Given the description of an element on the screen output the (x, y) to click on. 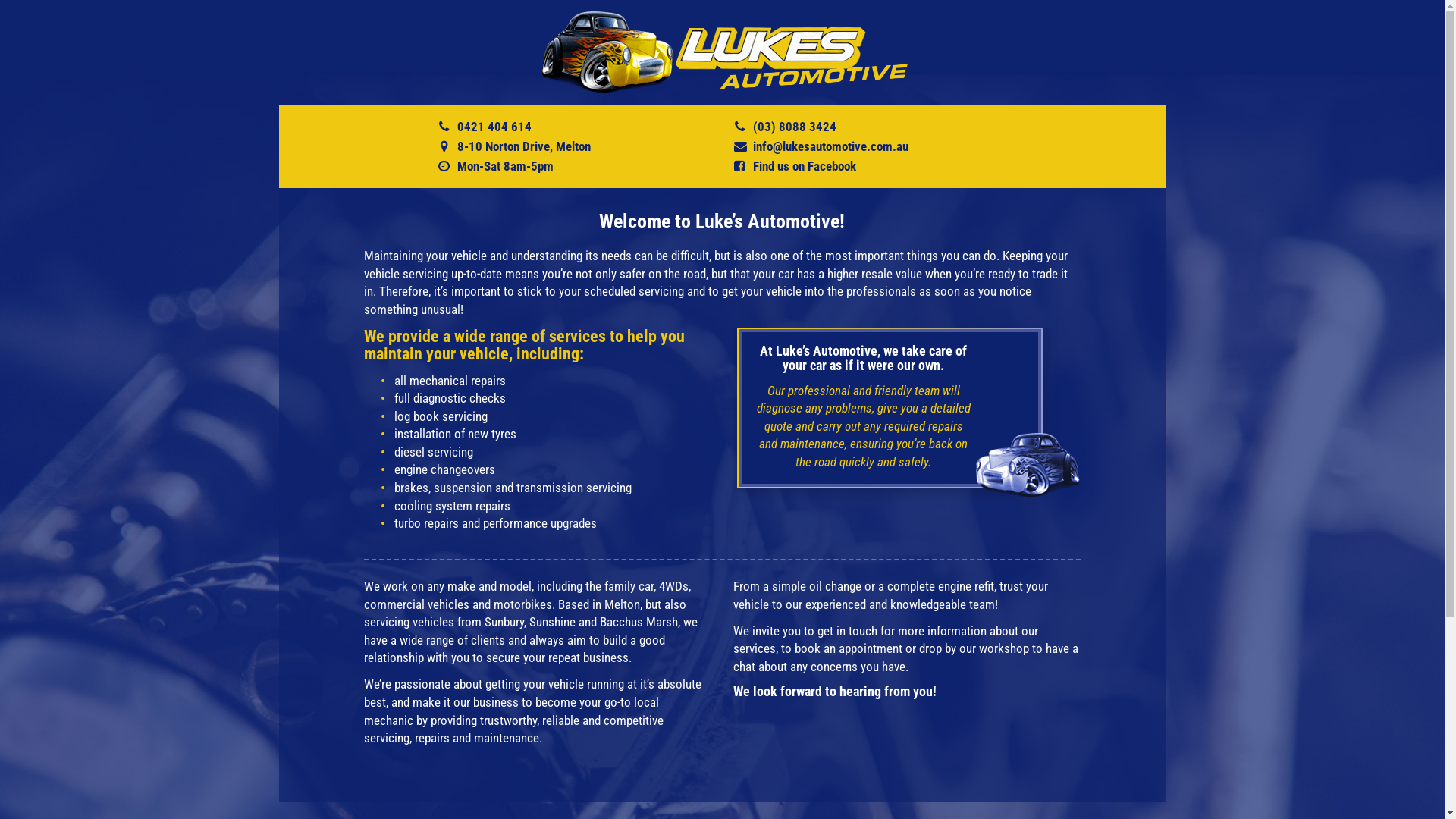
(03) 8088 3424 Element type: text (794, 126)
8-10 Norton Drive, Melton Element type: text (523, 145)
0421 404 614 Element type: text (494, 126)
Find us on Facebook Element type: text (804, 165)
info@lukesautomotive.com.au Element type: text (830, 145)
